Given the description of an element on the screen output the (x, y) to click on. 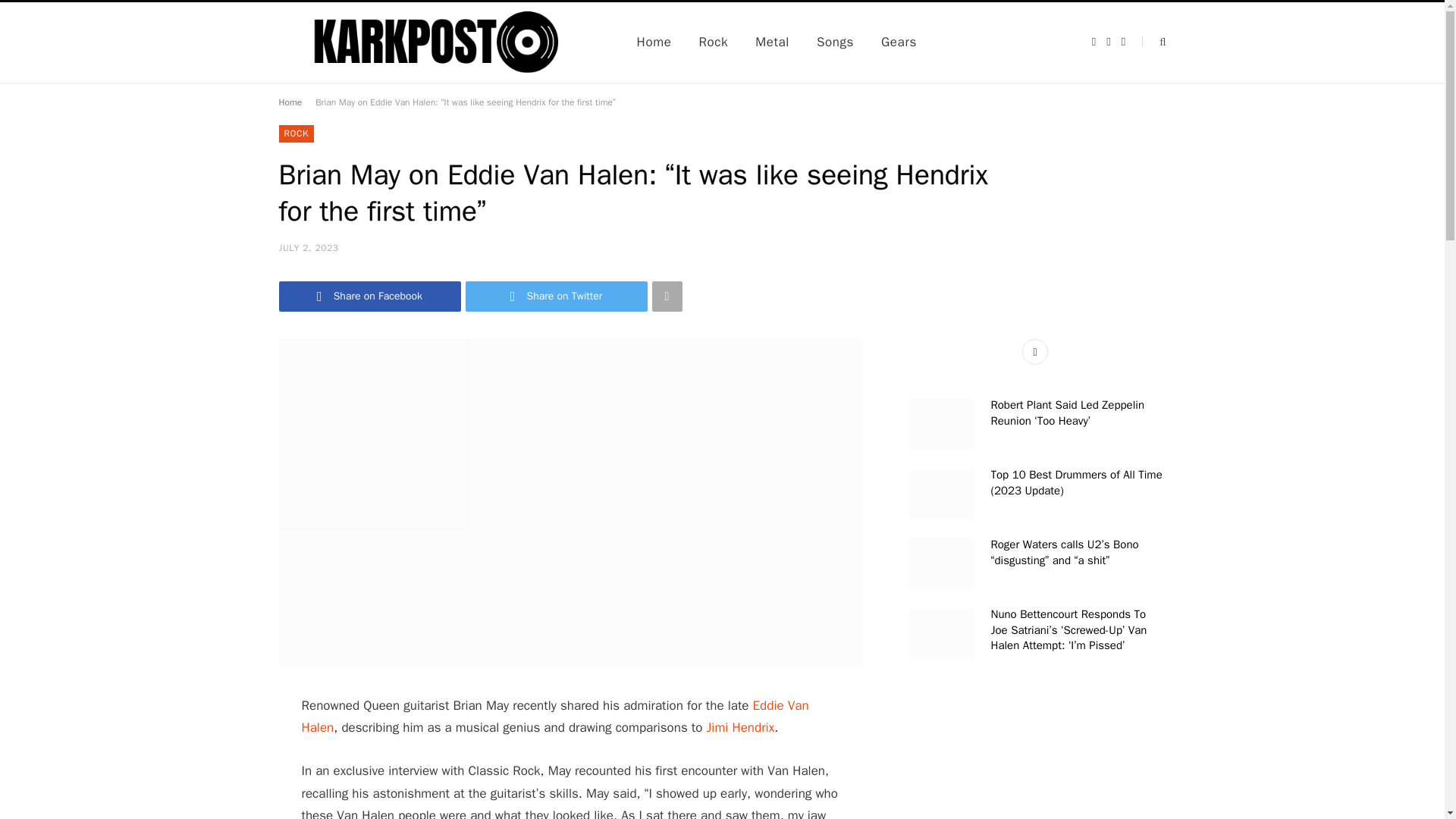
Eddie Van Halen (554, 716)
JULY 2, 2023 (309, 247)
Kark Post (434, 42)
ROCK (296, 133)
Home (290, 102)
Search (1153, 41)
Share on Twitter (556, 296)
Jimi Hendrix (740, 727)
Share on Twitter (556, 296)
Share on Facebook (370, 296)
